Given the description of an element on the screen output the (x, y) to click on. 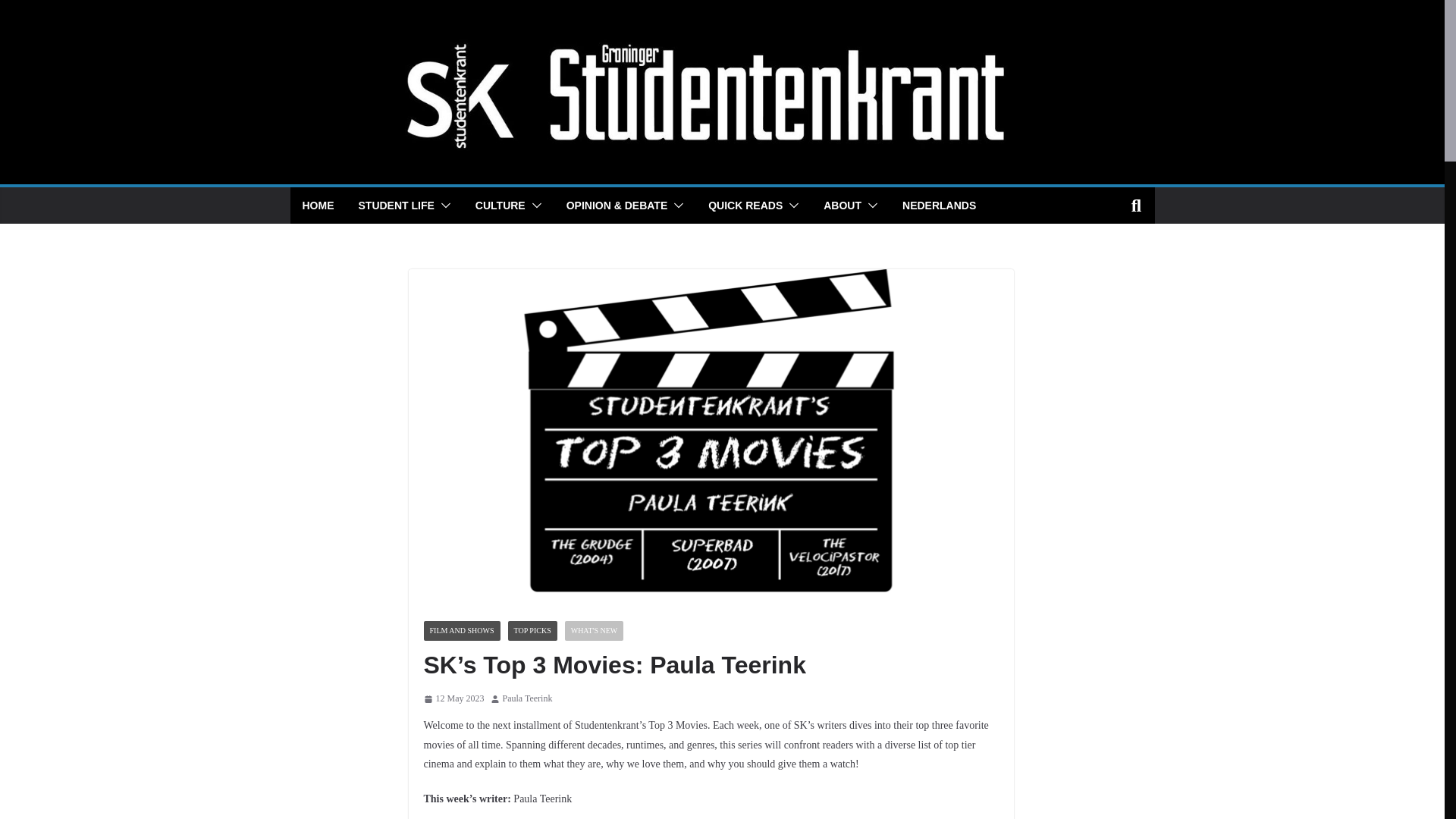
QUICK READS (745, 205)
17:00 (453, 699)
NEDERLANDS (938, 205)
HOME (317, 205)
ABOUT (842, 205)
12 May 2023 (453, 699)
TOP PICKS (532, 630)
Paula Teerink (526, 699)
STUDENT LIFE (395, 205)
FILM AND SHOWS (461, 630)
Paula Teerink (526, 699)
WHAT'S NEW (594, 630)
CULTURE (500, 205)
